Given the description of an element on the screen output the (x, y) to click on. 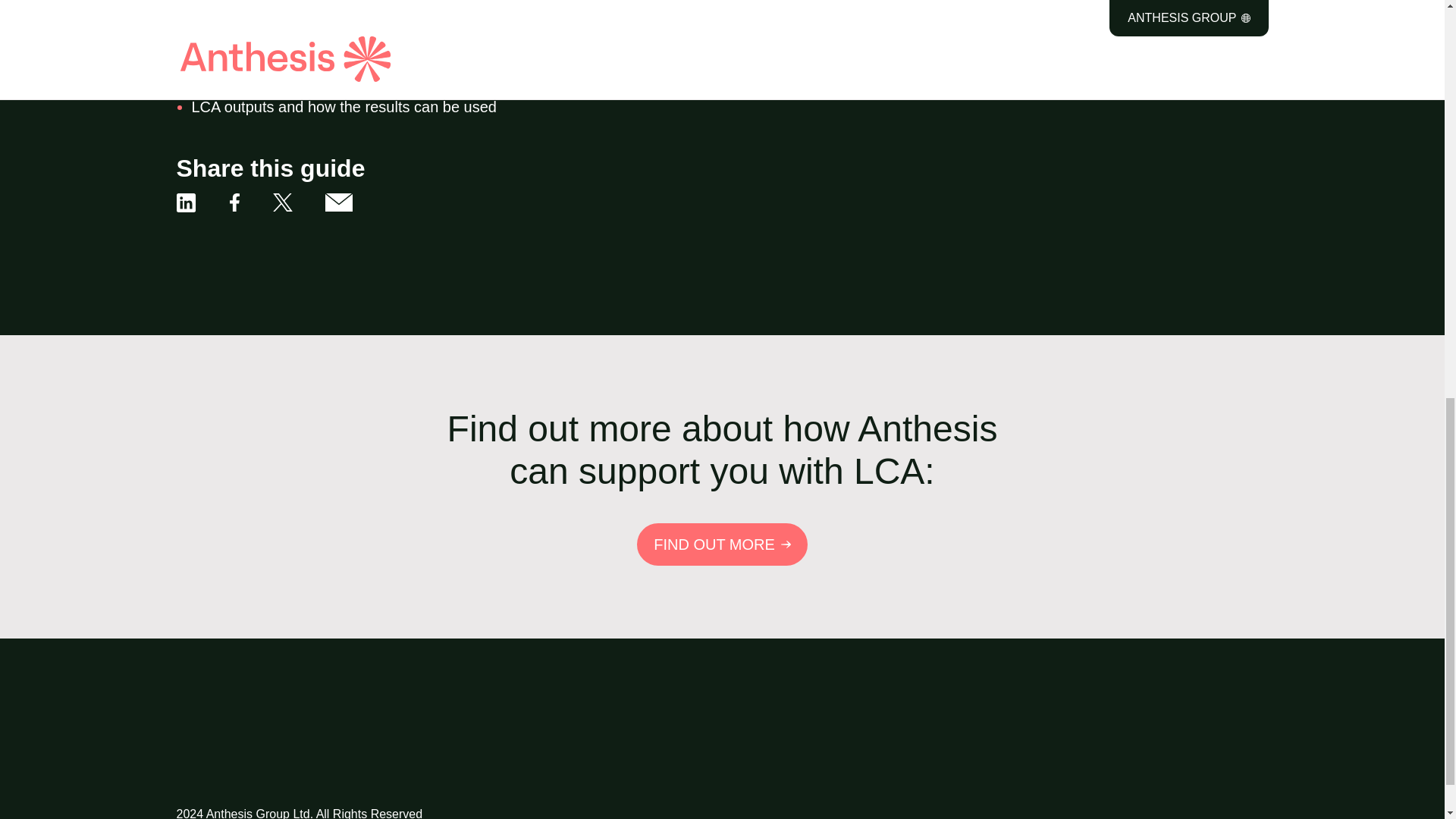
FIND OUT MORE (722, 544)
